Given the description of an element on the screen output the (x, y) to click on. 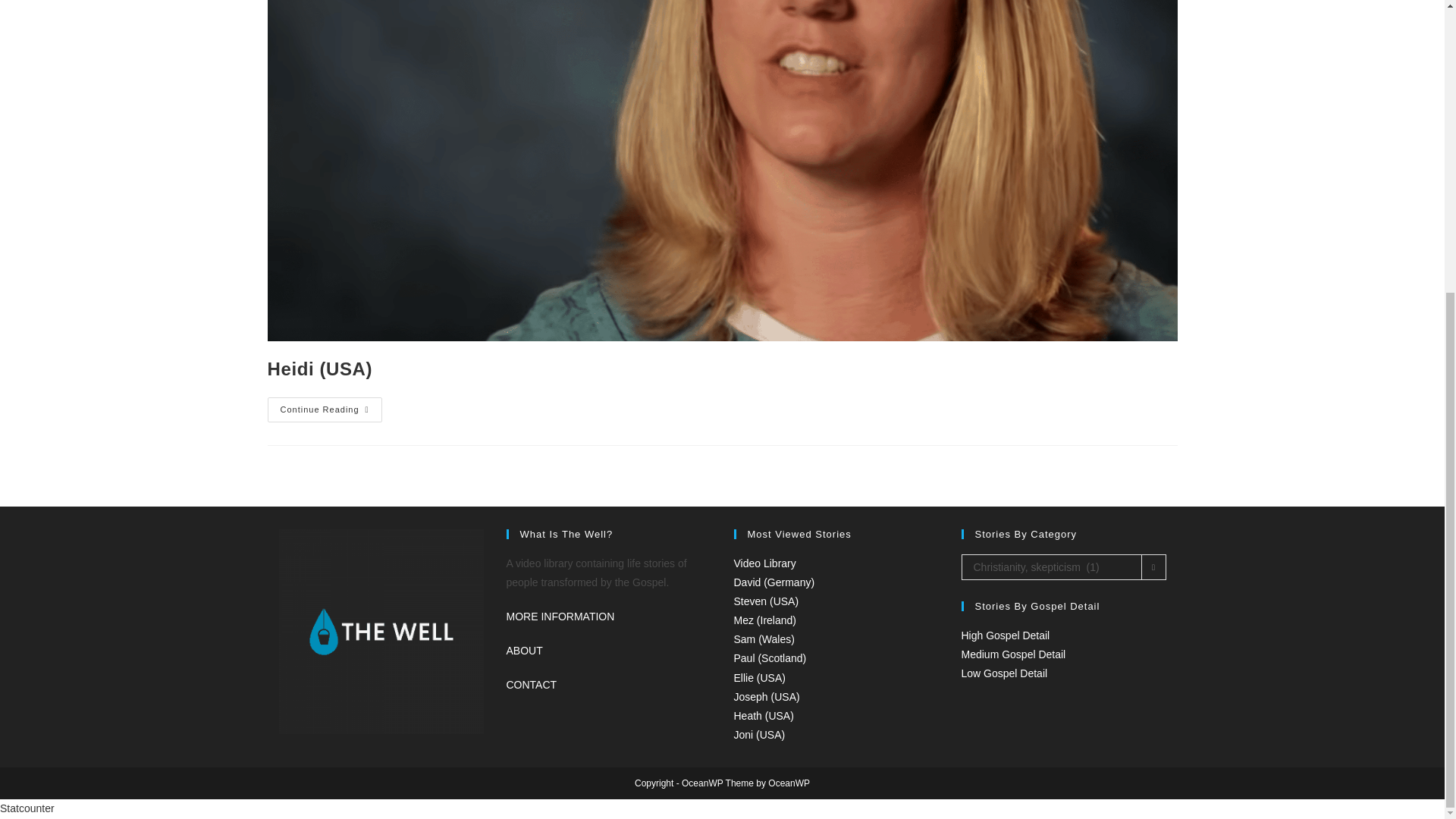
Low Gospel Detail (1004, 673)
Medium Gospel Detail (1012, 654)
ABOUT (524, 650)
CONTACT (531, 684)
Video Library (764, 563)
High Gospel Detail (1004, 635)
MORE INFORMATION (560, 616)
